Given the description of an element on the screen output the (x, y) to click on. 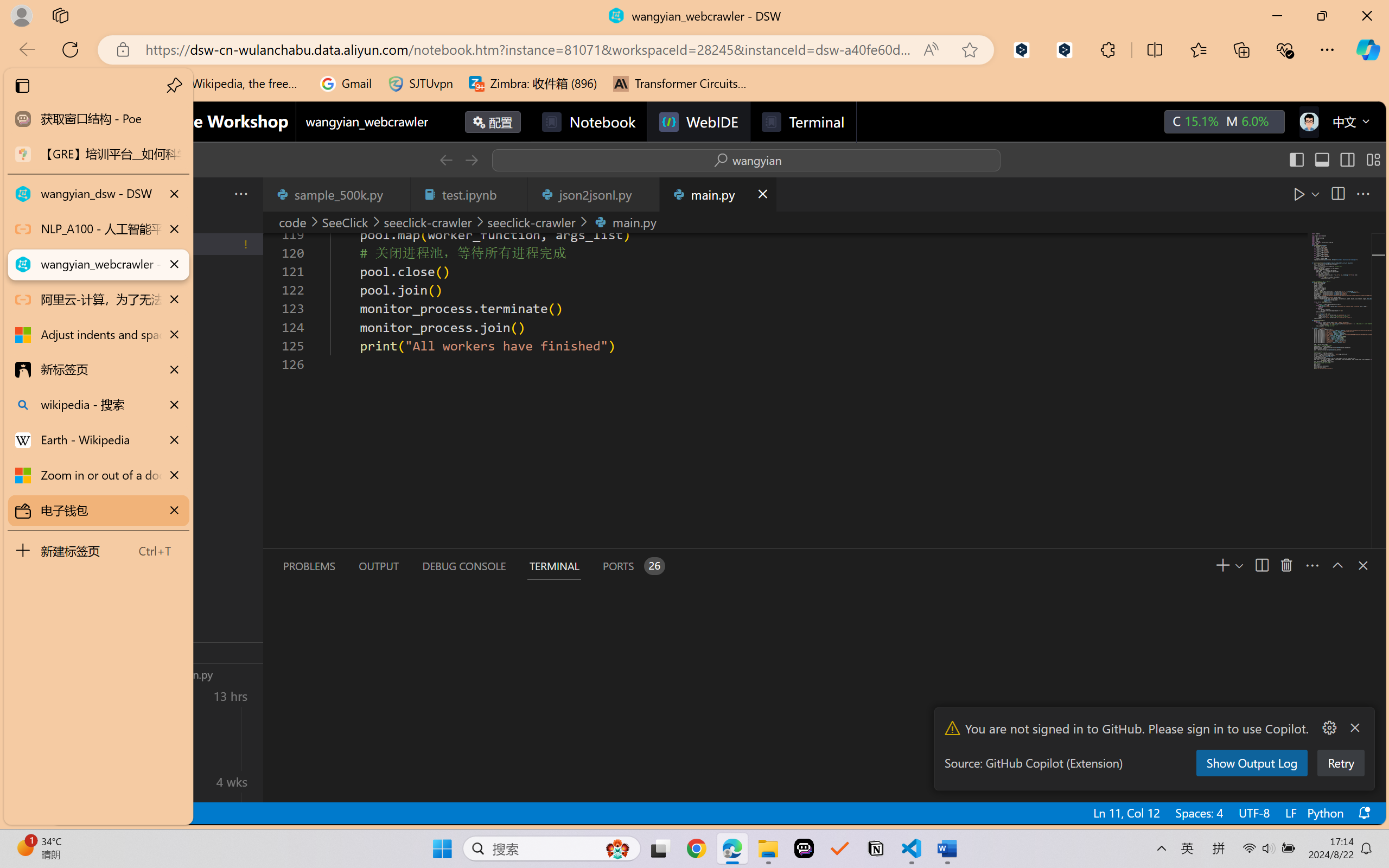
Editor actions (1332, 194)
Terminal actions (1002, 565)
Split Editor Right (Ctrl+\) [Alt] Split Editor Down (1337, 193)
Run and Debug (Ctrl+Shift+D) (73, 375)
Retry (1339, 762)
Class: menubar compact overflow-menu-only (73, 194)
Notification Actions (1341, 727)
